Given the description of an element on the screen output the (x, y) to click on. 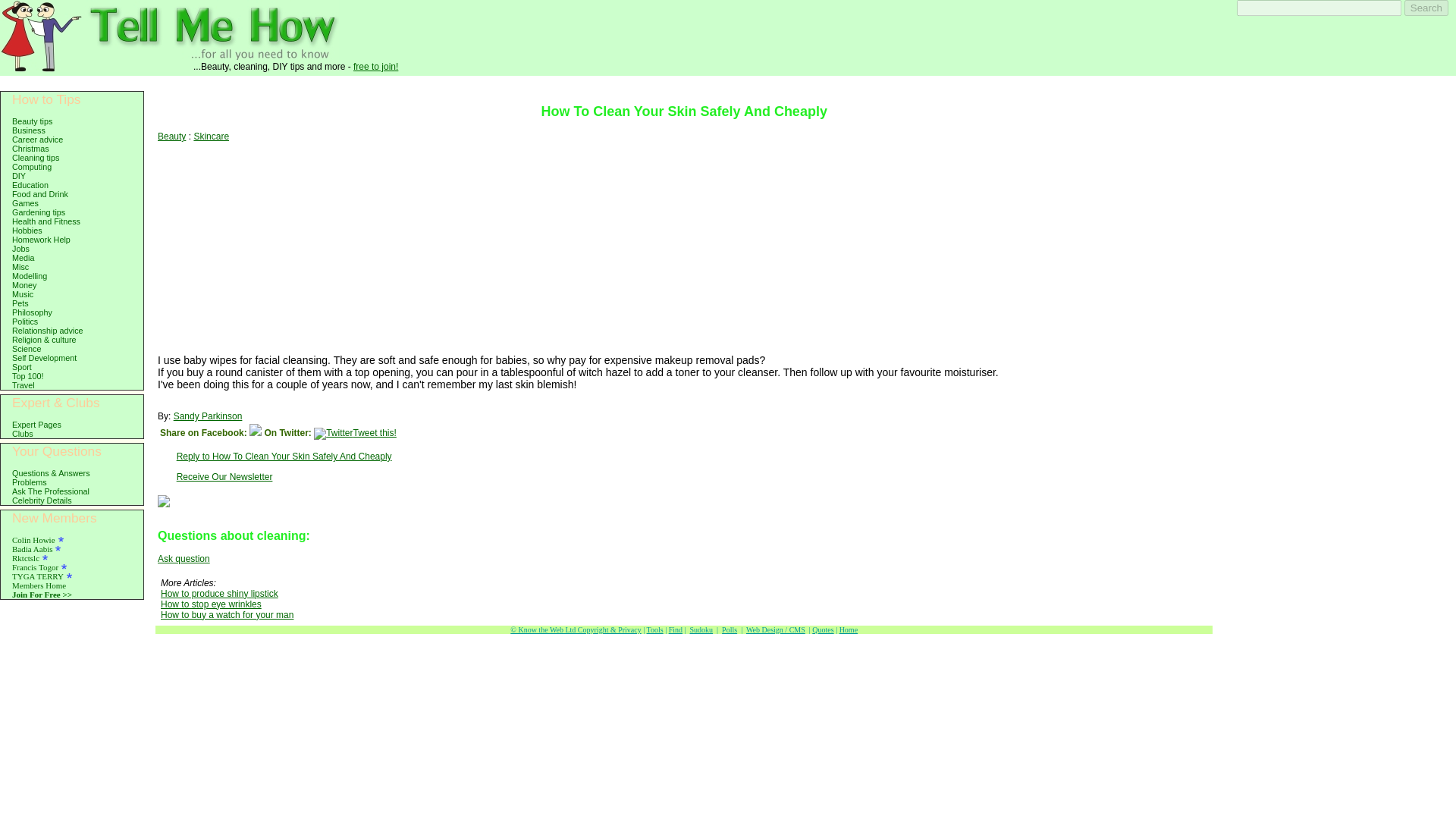
Site map (681, 82)
Food and Drink (39, 194)
Christmas (30, 148)
Clubs (22, 433)
Job Tips (20, 248)
Careers (36, 139)
Education (29, 184)
Food and drink (39, 194)
Christmas (30, 148)
Gardening tips (38, 212)
Cleaning tips (35, 157)
Games (25, 203)
Music tips (22, 293)
Newsletter (867, 82)
Health and Fitness (45, 221)
